Given the description of an element on the screen output the (x, y) to click on. 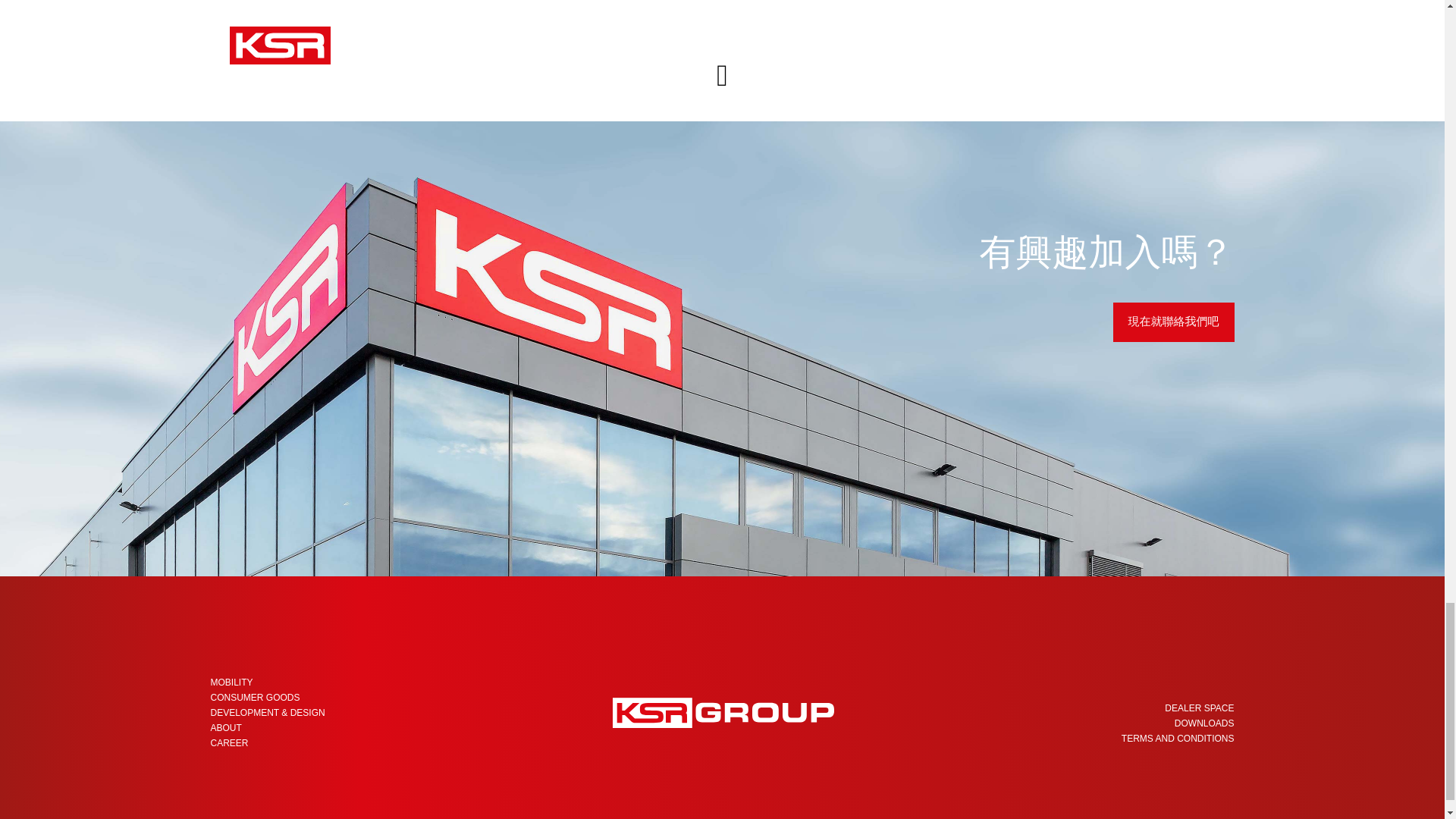
CAREER (229, 742)
MOBILITY (232, 682)
TERMS AND CONDITIONS (1177, 738)
ABOUT (226, 727)
CONSUMER GOODS (255, 697)
DEALER SPACE (1198, 707)
DOWNLOADS (1204, 723)
